Given the description of an element on the screen output the (x, y) to click on. 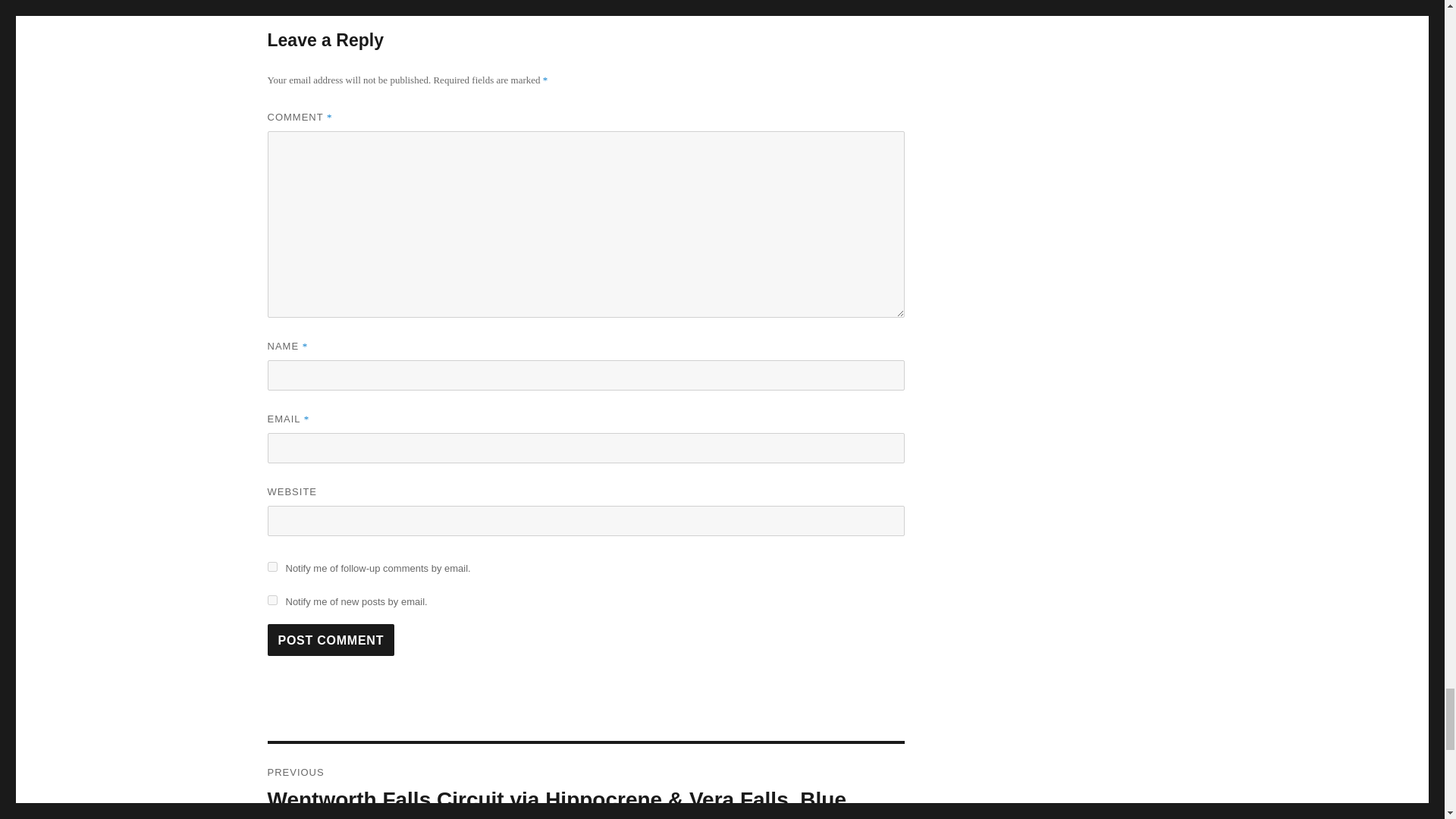
Post Comment (330, 640)
subscribe (271, 600)
subscribe (271, 566)
